Given the description of an element on the screen output the (x, y) to click on. 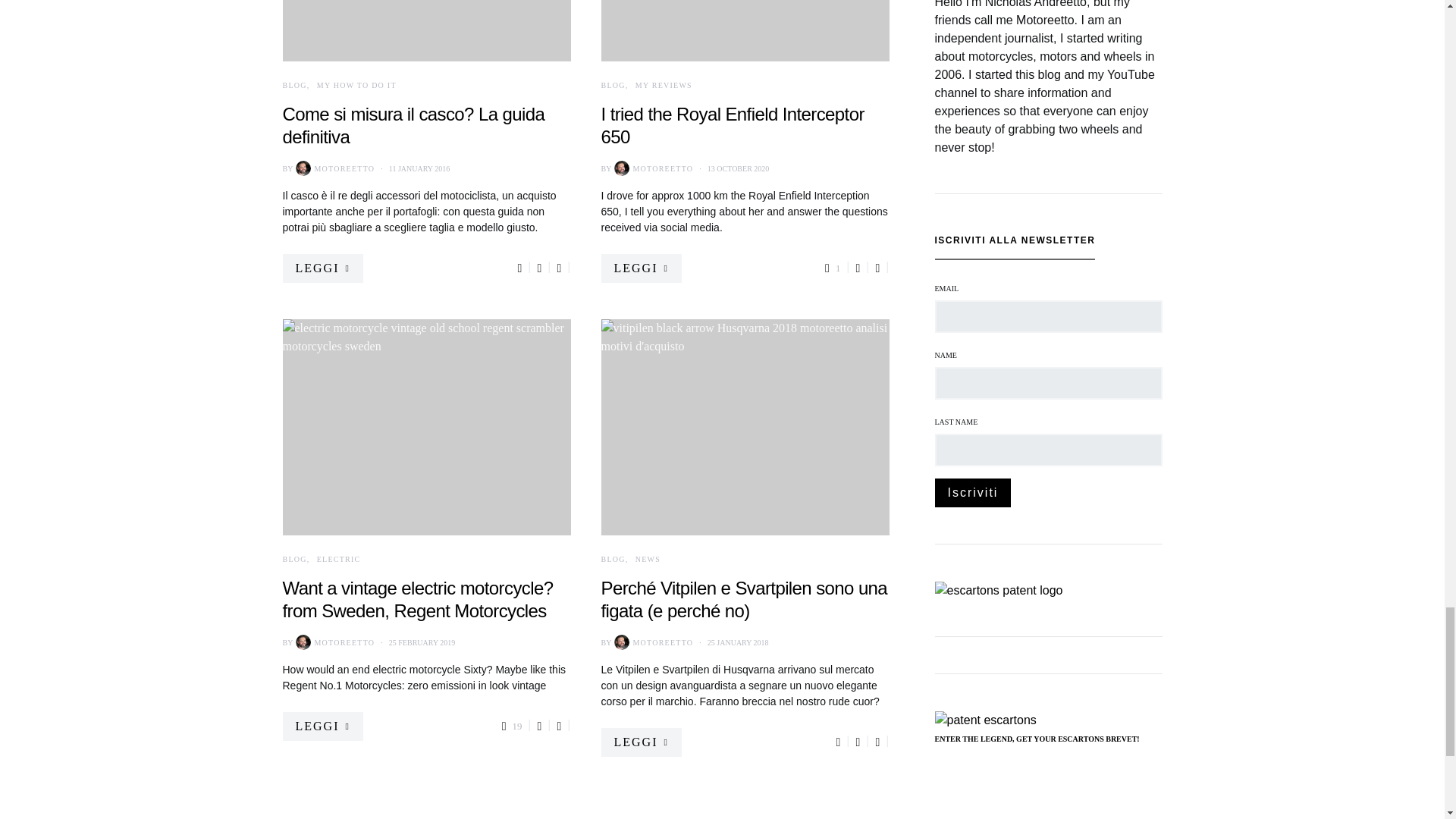
View all posts by Motoreetto (333, 168)
View all posts by Motoreetto (652, 642)
View all posts by Motoreetto (333, 642)
View all posts by Motoreetto (652, 168)
